Given the description of an element on the screen output the (x, y) to click on. 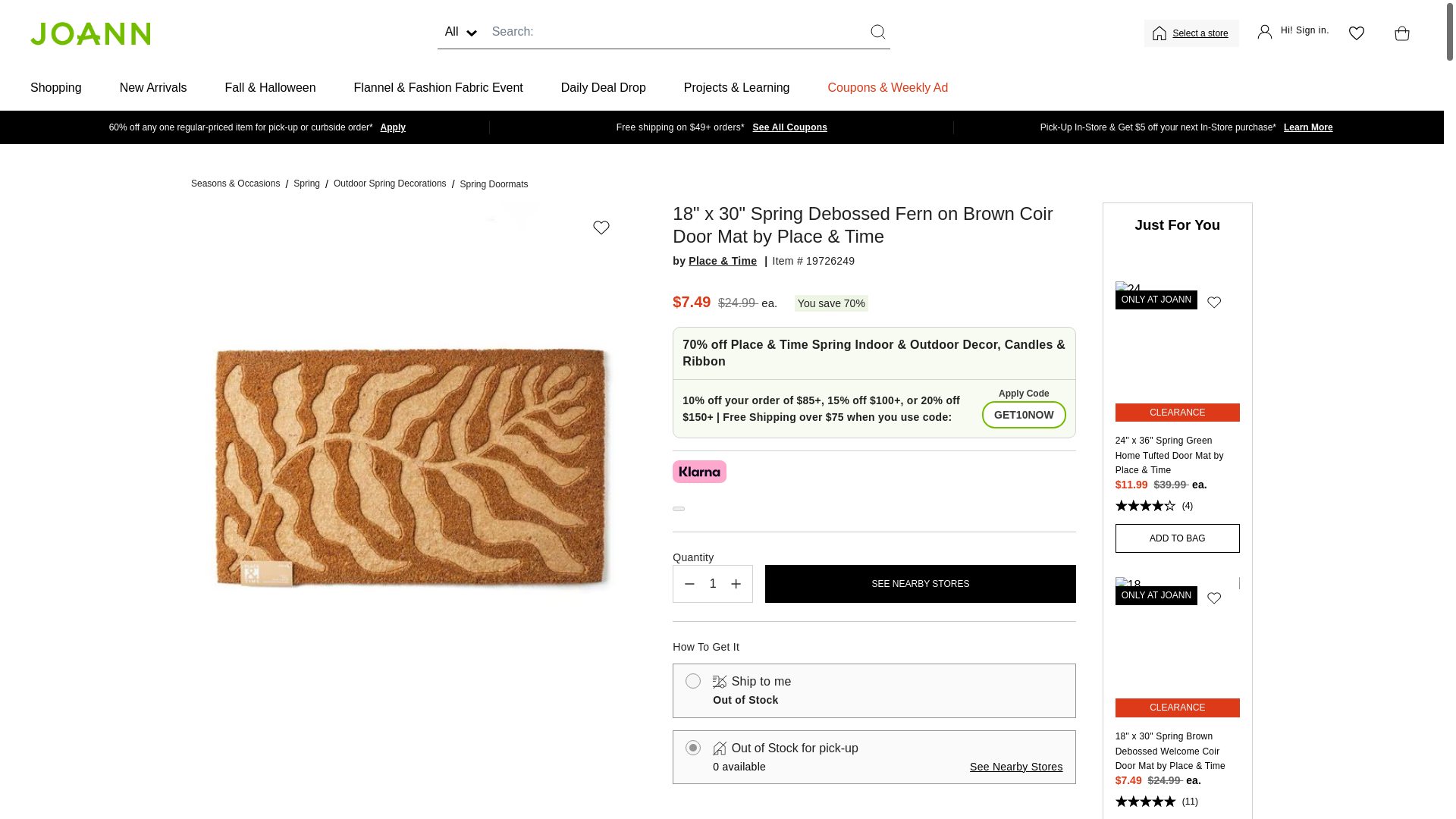
Favorites (1356, 33)
Spring (307, 183)
View Cart (1398, 33)
Hi! Sign in. (1293, 33)
Shopping (55, 87)
Select a store (1201, 32)
1 (712, 583)
Hi! Sign in. (1293, 33)
Outdoor Spring Decorations (389, 183)
JO-ANN STORES, LLC Home (89, 33)
